Given the description of an element on the screen output the (x, y) to click on. 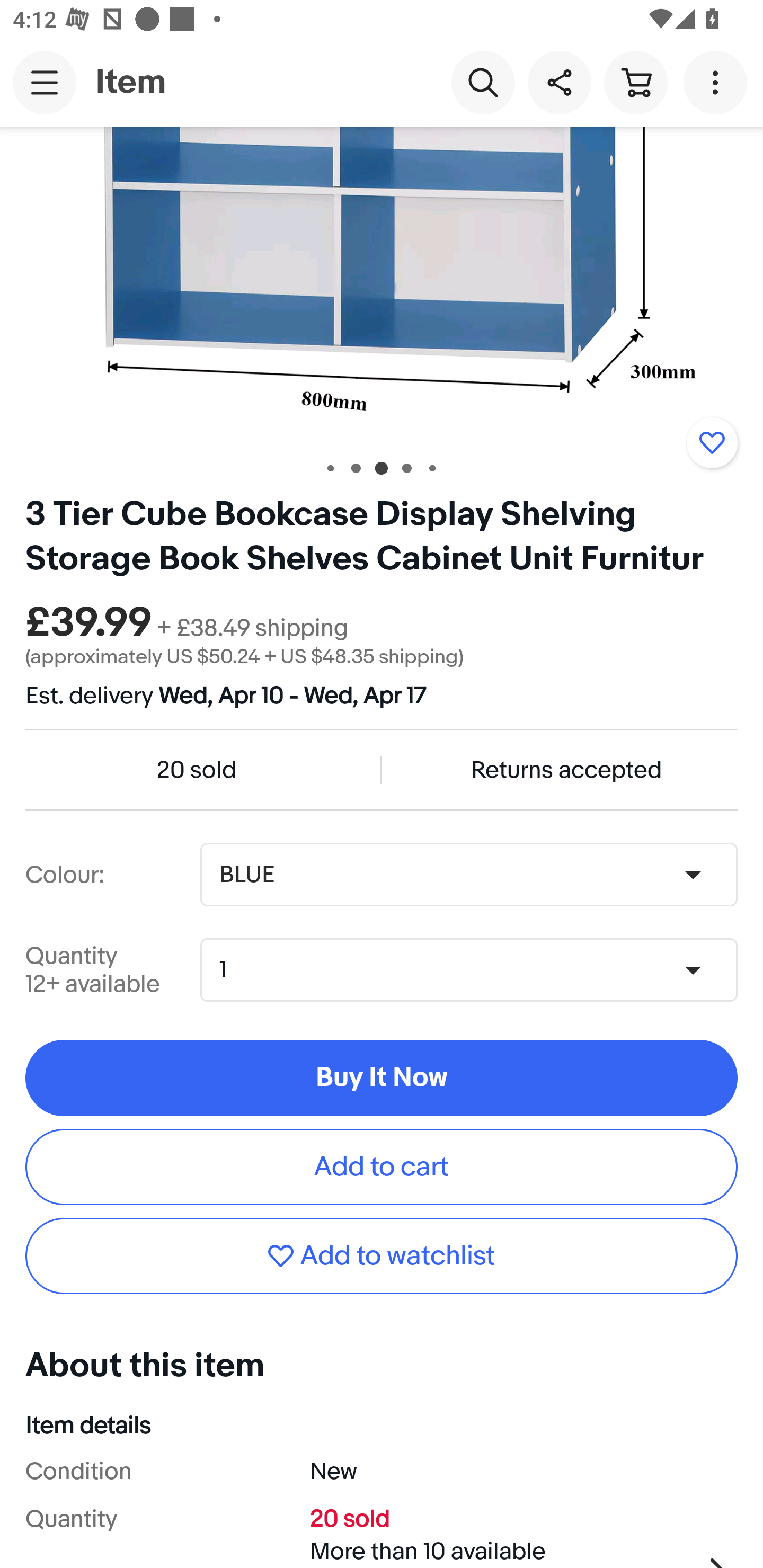
Main navigation, open (44, 82)
Search (482, 81)
Share this item (559, 81)
Cart button shopping cart (635, 81)
More options (718, 81)
Item image 21 of 44 (381, 284)
Add to watchlist (711, 442)
Colour:,BLUE BLUE (468, 874)
Quantity,1,12+ available 1 (474, 969)
Buy It Now (381, 1077)
Add to cart (381, 1166)
Add to watchlist (381, 1255)
